Given the description of an element on the screen output the (x, y) to click on. 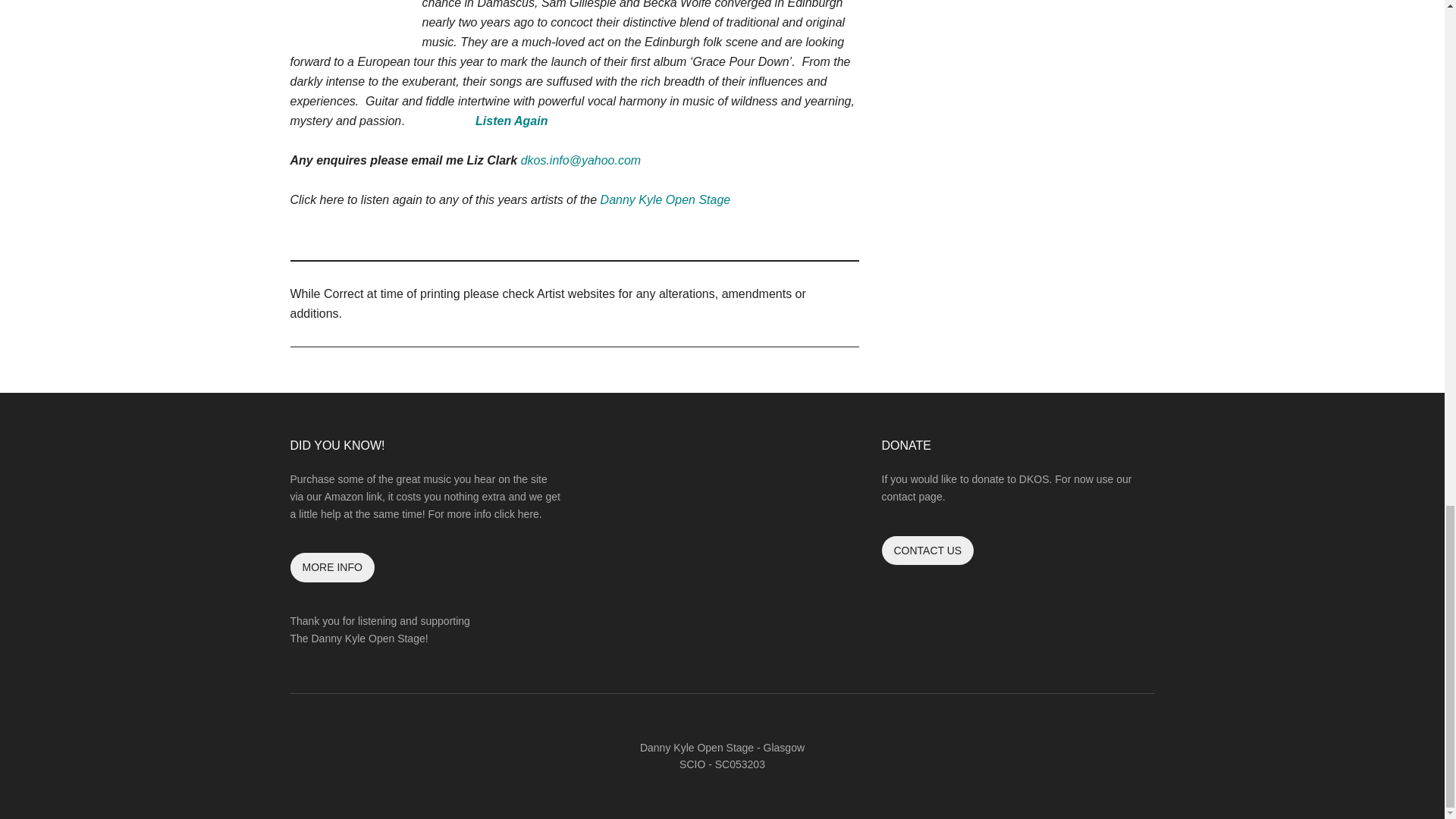
Listen Again (509, 120)
CONTACT US (927, 550)
MORE INFO (331, 567)
Danny Kyle Open Stage (664, 199)
